Given the description of an element on the screen output the (x, y) to click on. 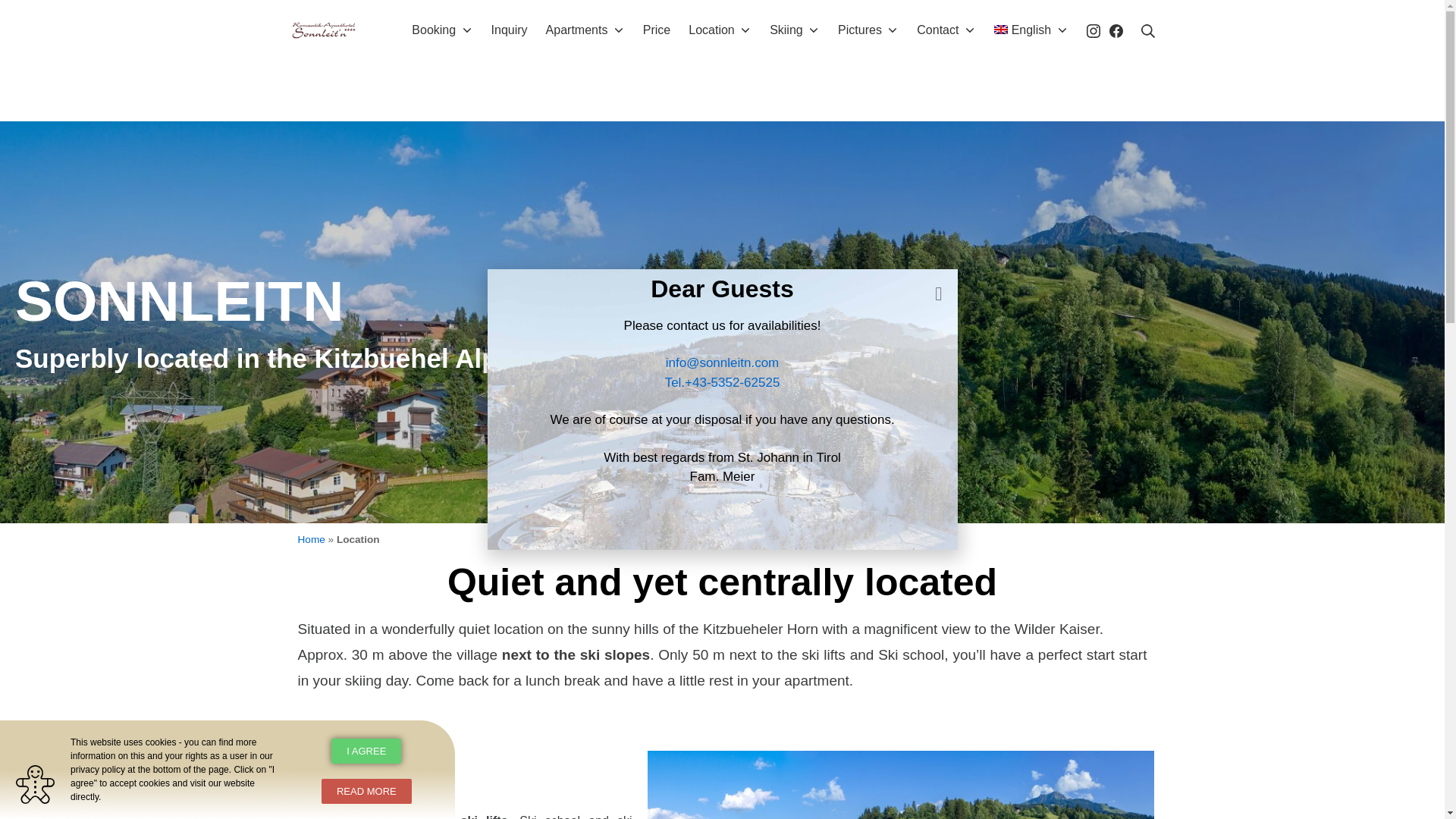
Instagram icon (1092, 30)
